Given the description of an element on the screen output the (x, y) to click on. 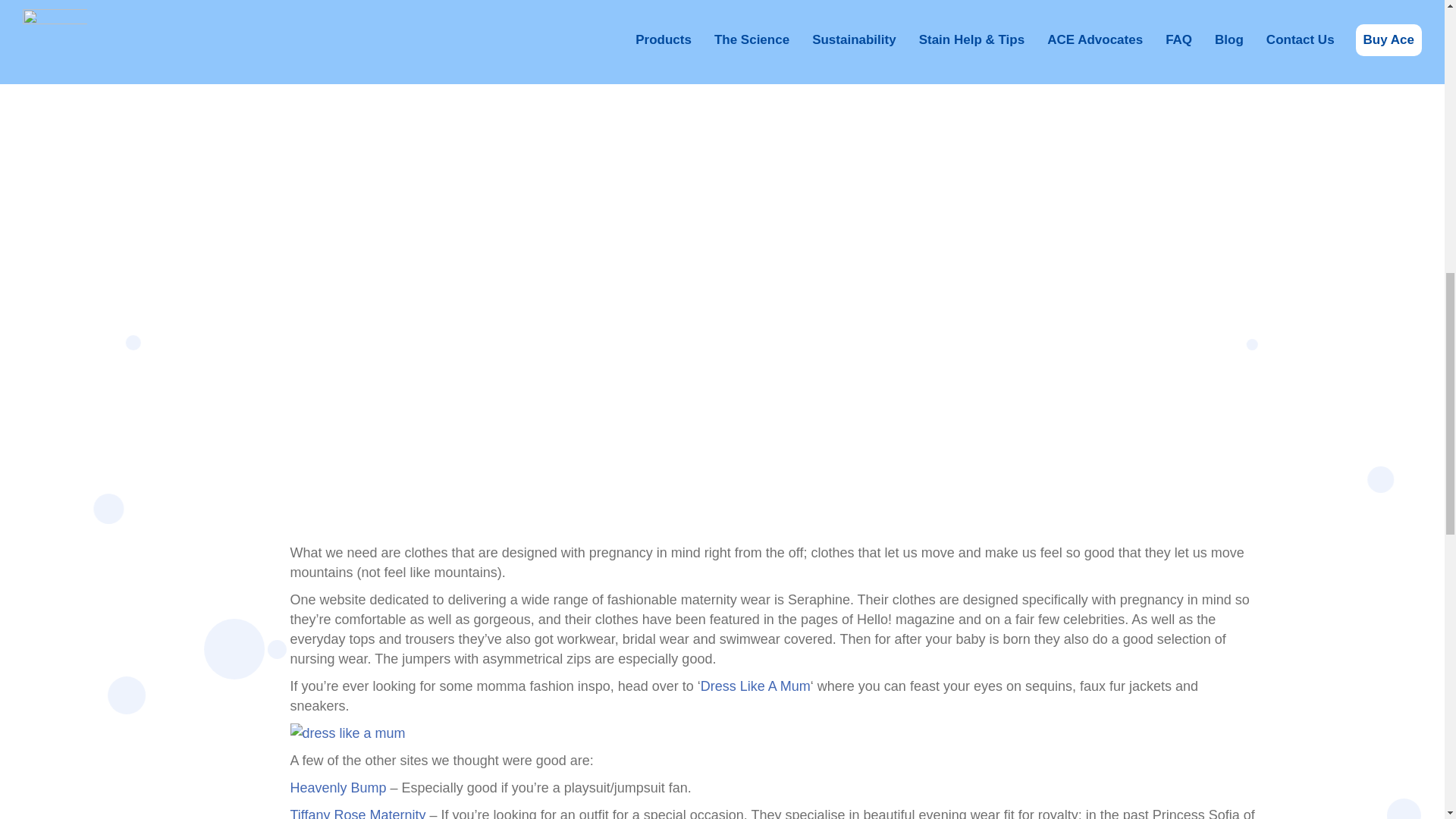
Dress Like A Mum (755, 685)
Heavenly Bump (337, 787)
Tiffany Rose Maternity (357, 813)
